Given the description of an element on the screen output the (x, y) to click on. 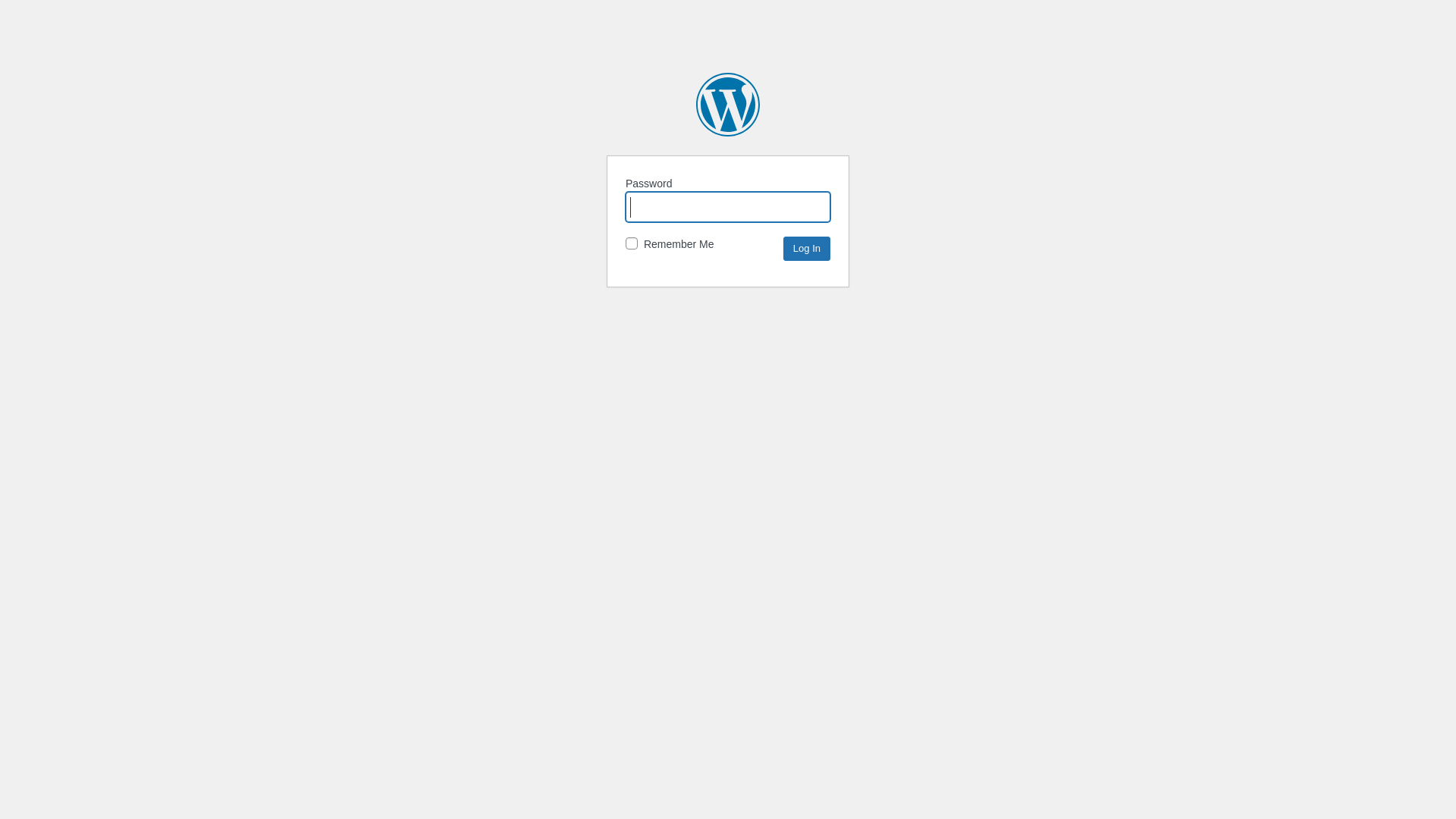
Log In Element type: text (806, 248)
Homeward Bound Hub Element type: text (727, 104)
